Given the description of an element on the screen output the (x, y) to click on. 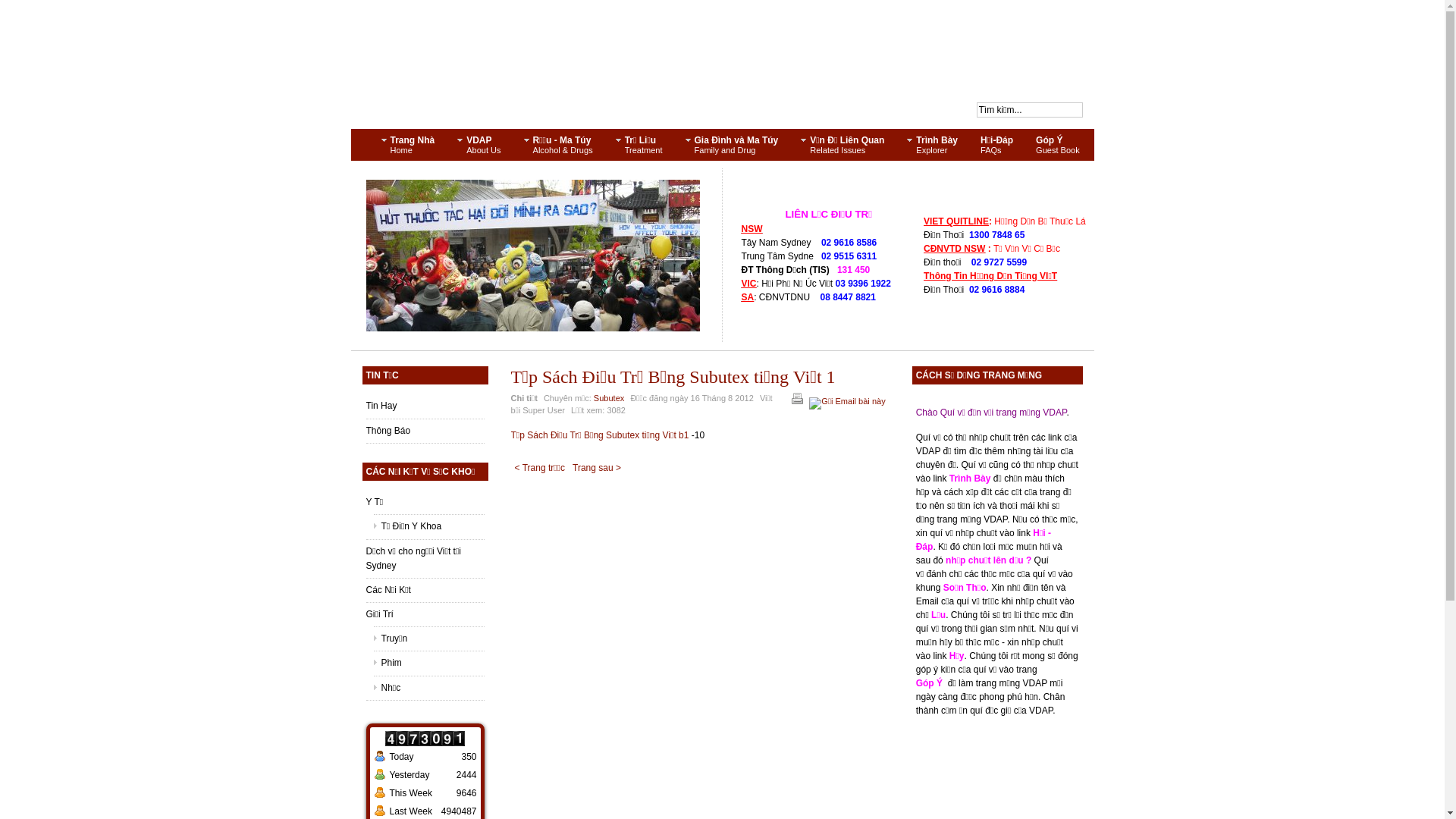
Tin Hay Element type: text (424, 405)
VDAP Element type: hover (721, 64)
Phim Element type: text (428, 662)
2023-11-23 Element type: hover (379, 758)
photo-07 Element type: hover (532, 255)
2023-11-22 Element type: hover (379, 777)
Subutex Element type: text (608, 397)
VDAP
About Us Element type: text (478, 144)
2023-11-20 Element type: hover (379, 795)
Trang sau > Element type: text (596, 467)
